Given the description of an element on the screen output the (x, y) to click on. 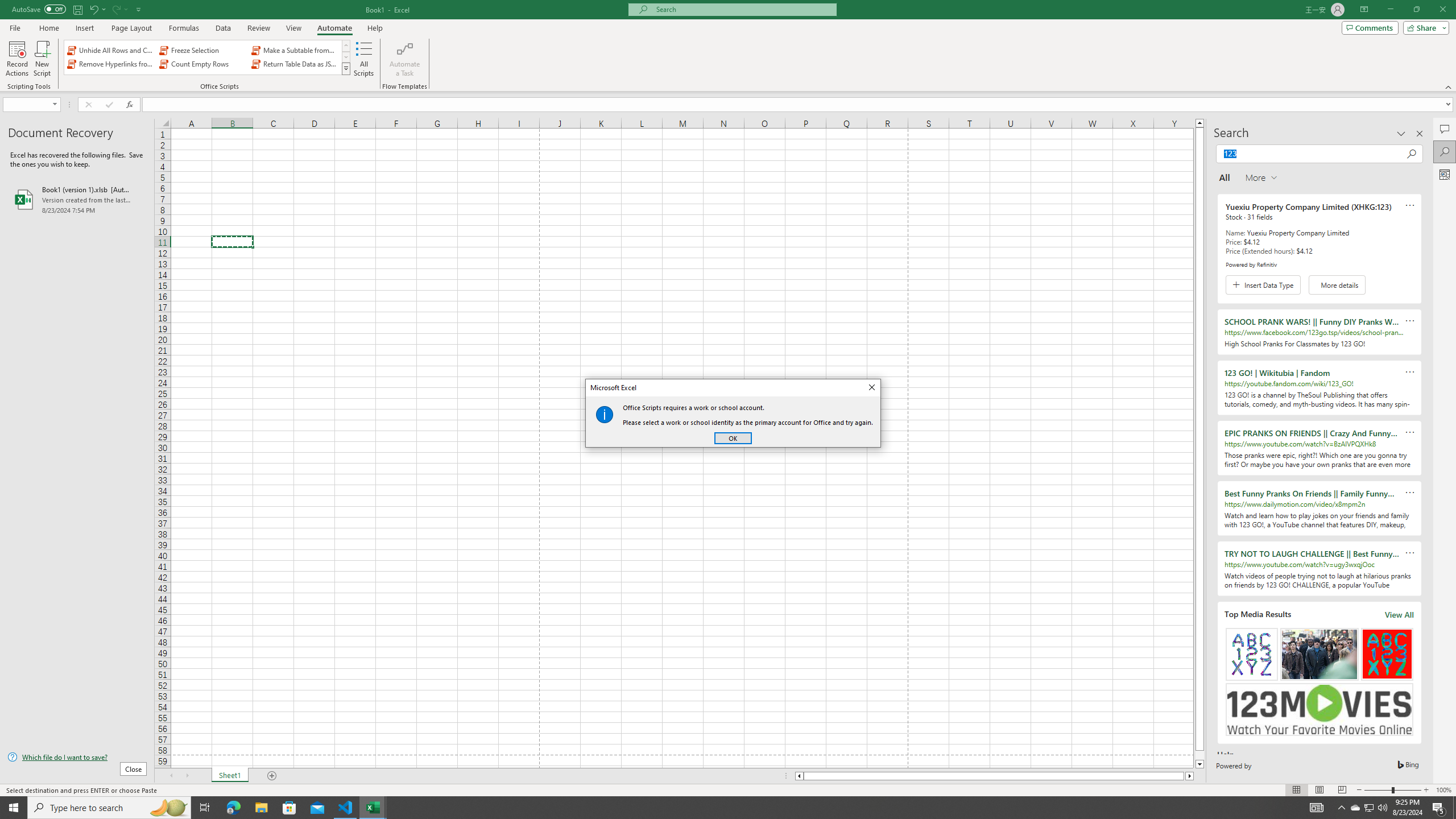
Task View (204, 807)
Search highlights icon opens search home window (167, 807)
Unhide All Rows and Columns (111, 50)
AutomationID: OfficeScriptsGallery (1355, 807)
Freeze Selection (207, 57)
Type here to search (202, 50)
